Given the description of an element on the screen output the (x, y) to click on. 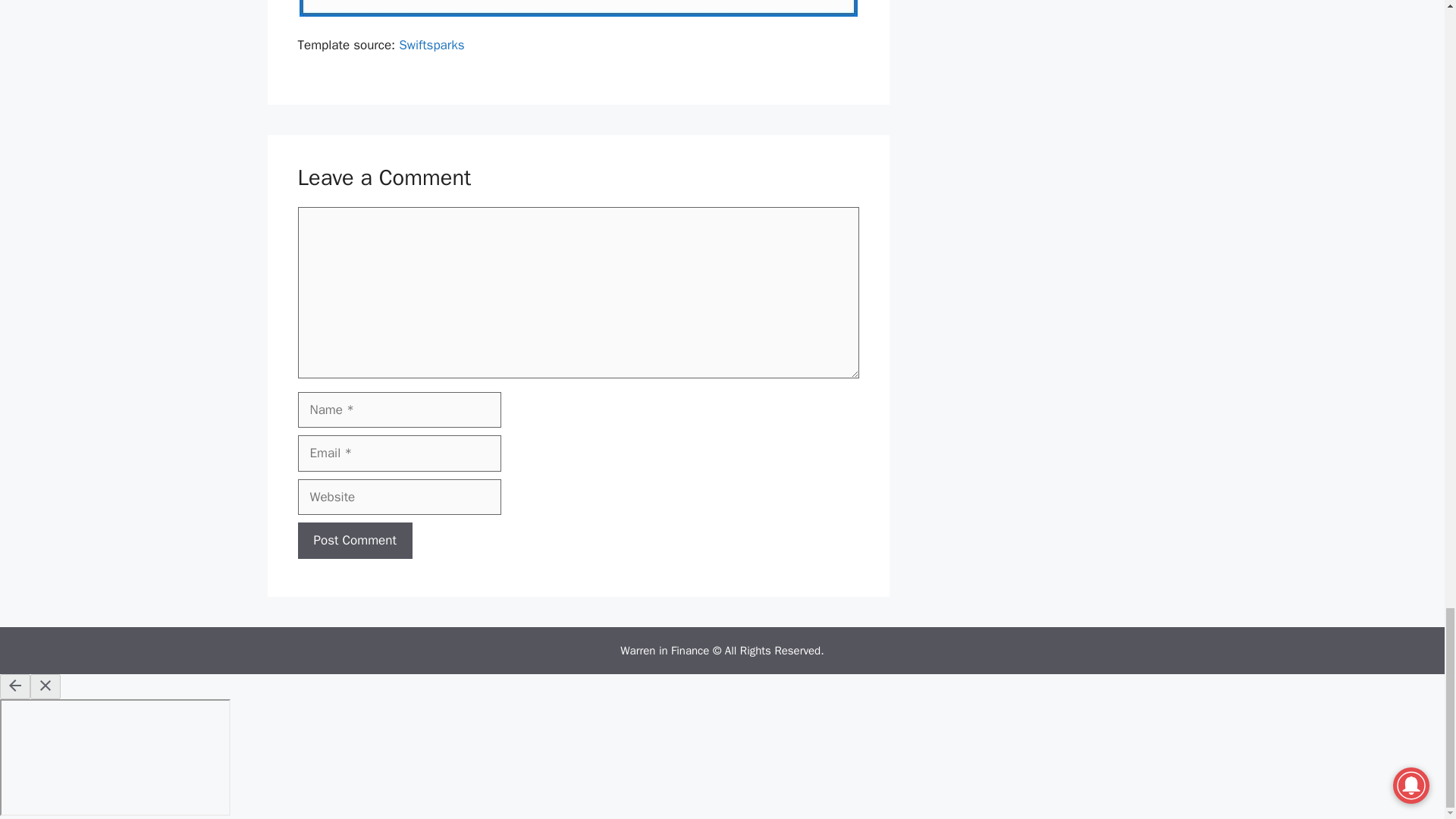
Post Comment (354, 540)
Swiftsparks (431, 44)
Post Comment (354, 540)
